Given the description of an element on the screen output the (x, y) to click on. 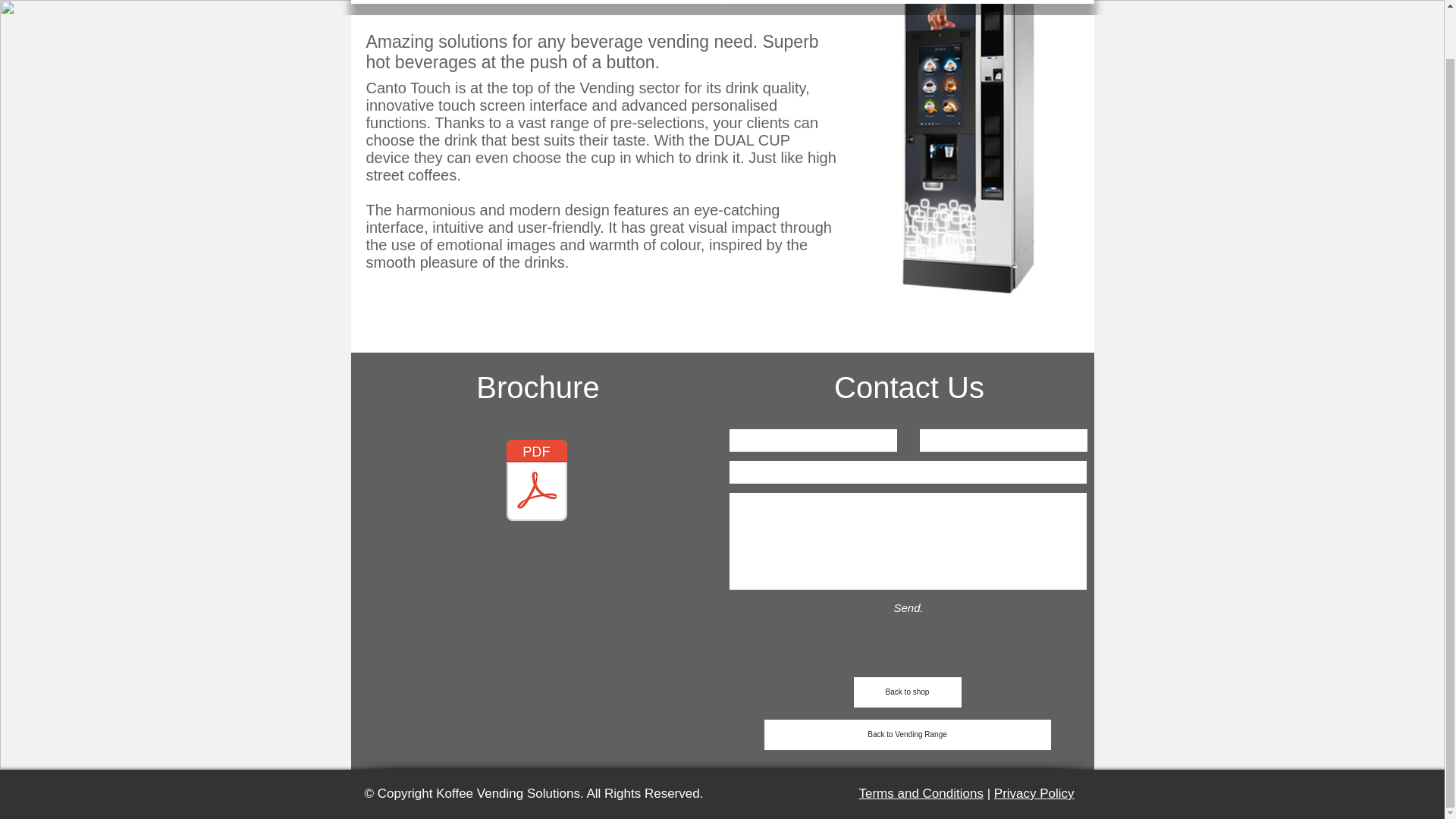
Back to shop (906, 692)
Terms and Conditions (920, 793)
Send. (908, 607)
Back to Vending Range (907, 734)
Privacy Policy (1034, 793)
